Given the description of an element on the screen output the (x, y) to click on. 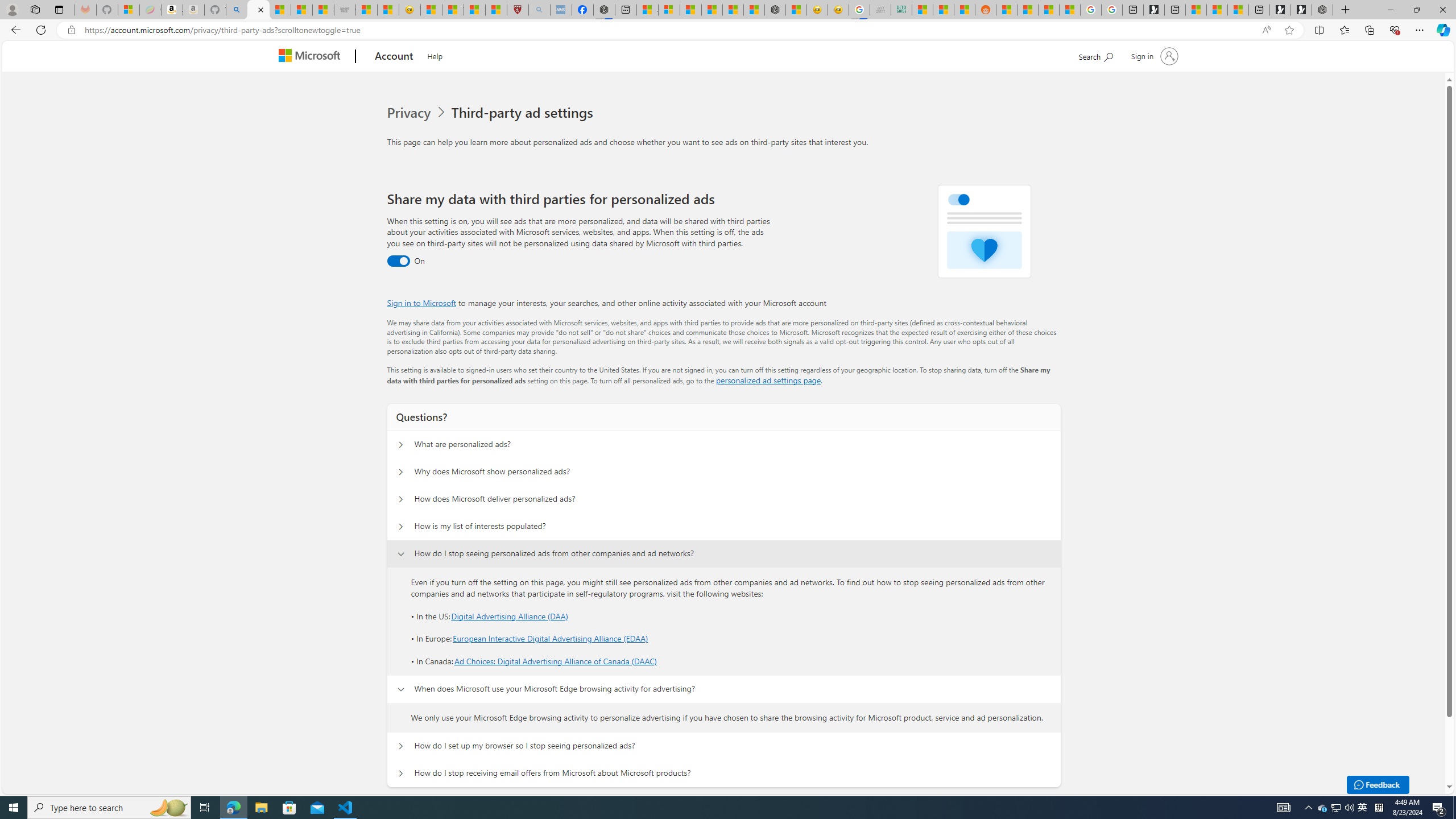
These 3 Stocks Pay You More Than 5% to Own Them (1238, 9)
12 Popular Science Lies that Must be Corrected (496, 9)
European Interactive Digital Advertising Alliance (EDAA) (549, 638)
Stocks - MSN (323, 9)
Sign in to Microsoft (422, 302)
DITOGAMES AG Imprint (901, 9)
Questions? How is my list of interests populated? (401, 526)
